Given the description of an element on the screen output the (x, y) to click on. 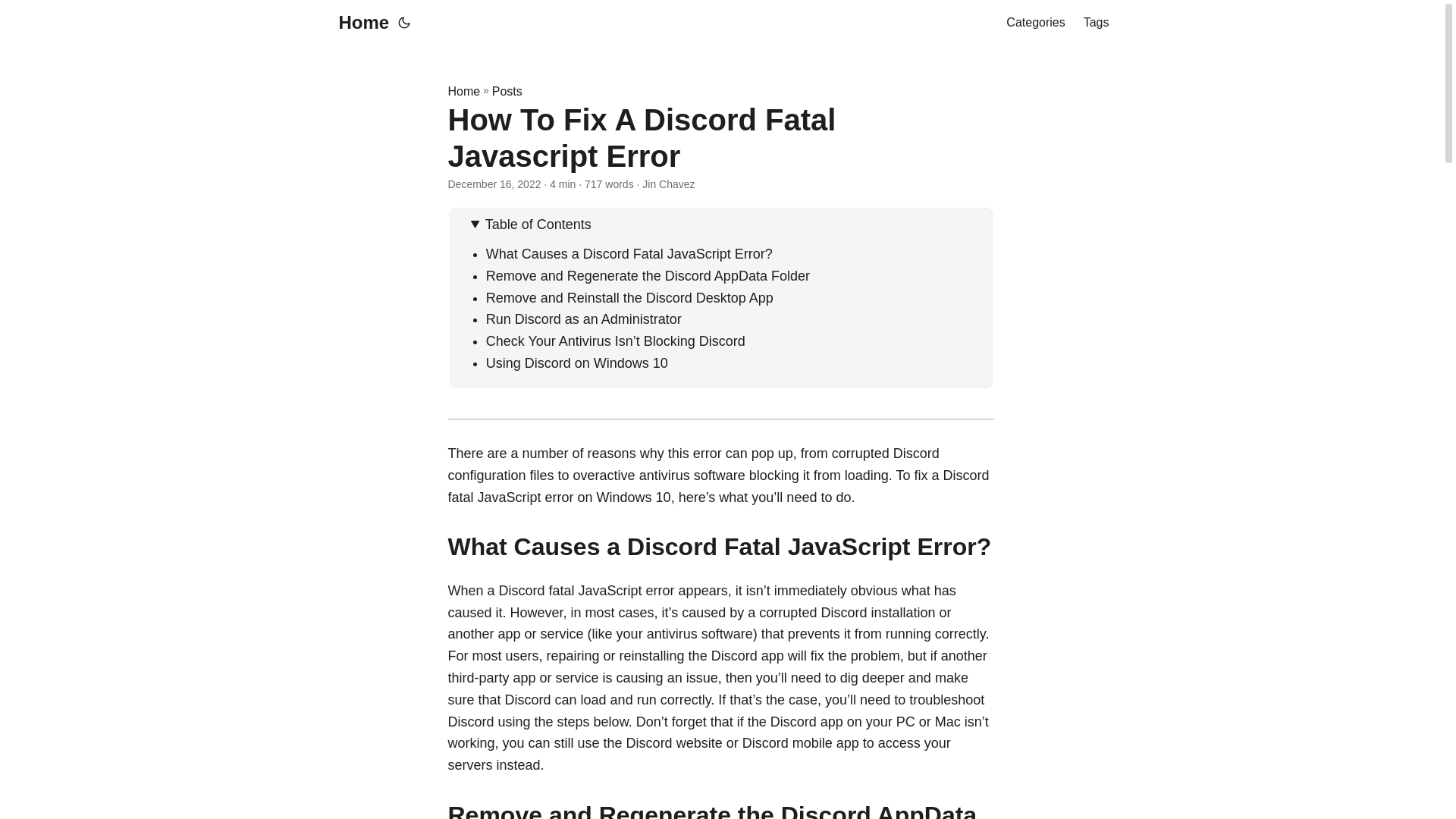
Home (463, 91)
Categories (1035, 22)
Using Discord on Windows 10 (577, 363)
Remove and Regenerate the Discord AppData Folder (647, 275)
Home (359, 22)
What Causes a Discord Fatal JavaScript Error? (629, 253)
Run Discord as an Administrator (583, 319)
Posts (507, 91)
Remove and Reinstall the Discord Desktop App (629, 297)
Categories (1035, 22)
